Given the description of an element on the screen output the (x, y) to click on. 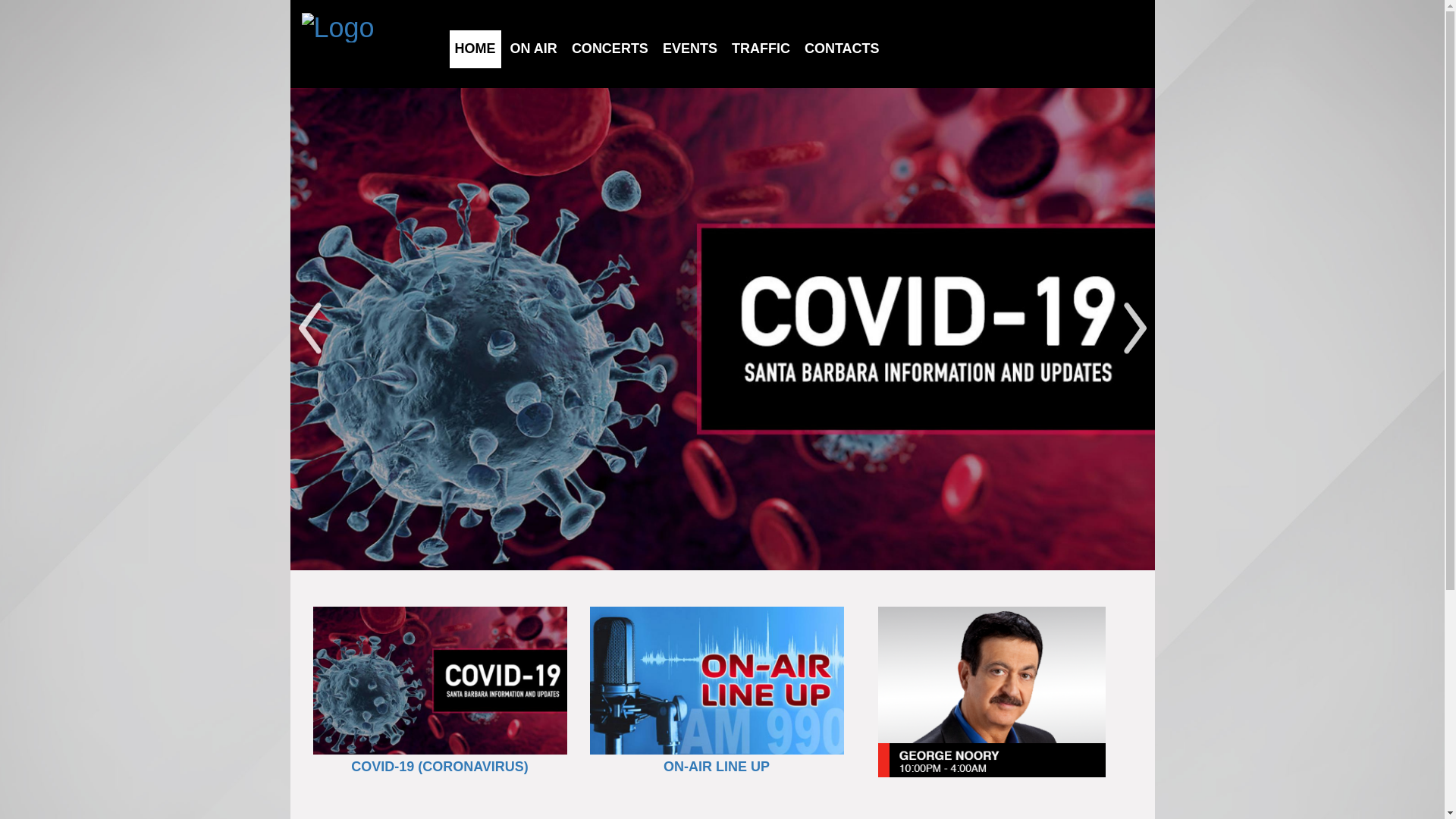
HOME Element type: text (475, 48)
COVID-19 (CORONAVIRUS) Element type: text (439, 766)
ON-AIR LINE UP Element type: text (716, 766)
Next Element type: text (1134, 329)
Previous Element type: text (309, 329)
EVENTS Element type: text (689, 48)
TRAFFIC Element type: text (760, 48)
CONTACTS Element type: text (841, 48)
CONCERTS Element type: text (609, 48)
ON AIR Element type: text (533, 48)
